Given the description of an element on the screen output the (x, y) to click on. 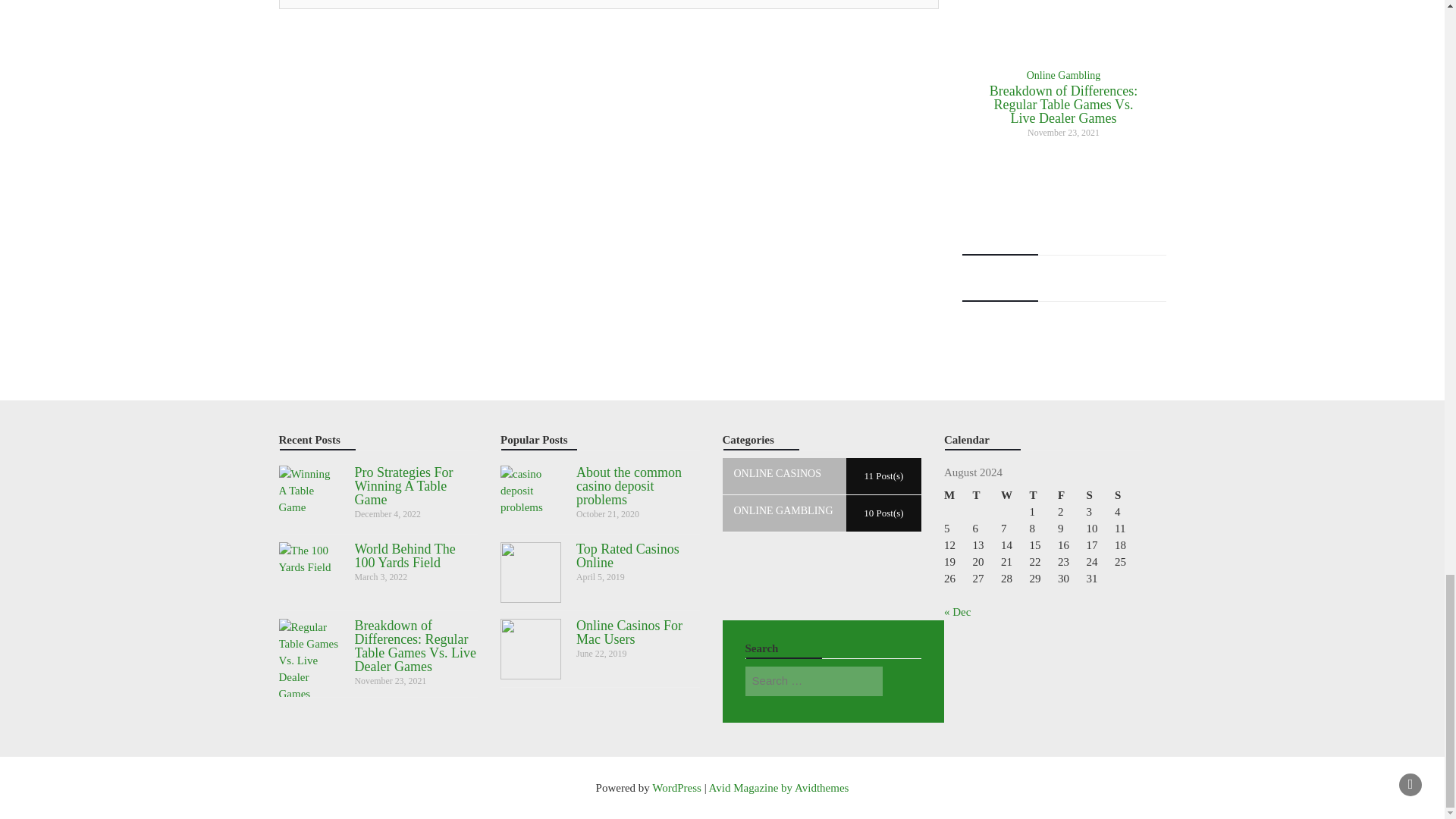
Tuesday (986, 494)
Search (901, 681)
Search (901, 681)
7.3.5 (609, 4)
Monday (957, 494)
